Given the description of an element on the screen output the (x, y) to click on. 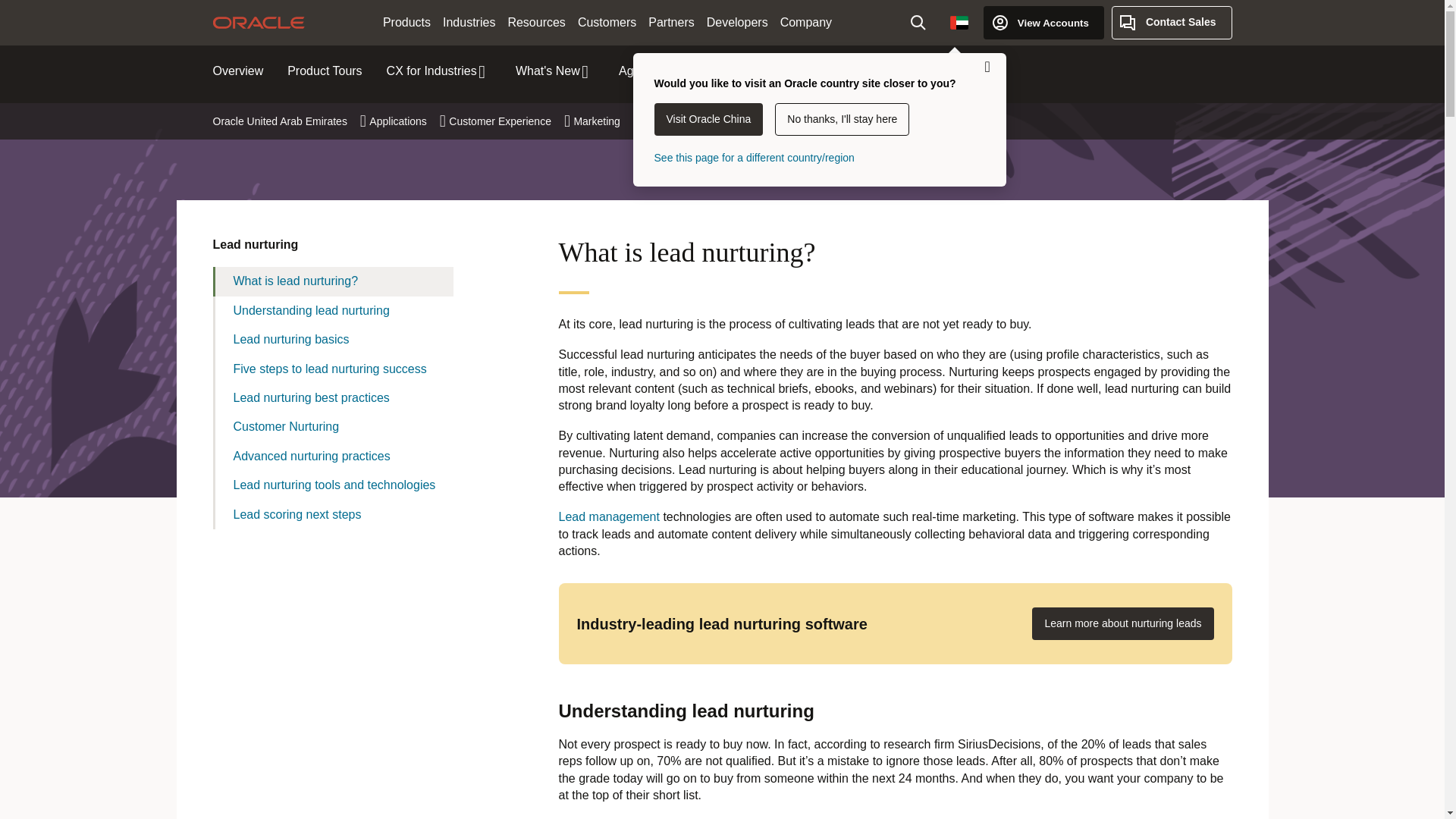
Visit Oracle China (707, 119)
Industries (468, 22)
Developers (737, 22)
Customers (607, 22)
Product Tours (323, 71)
Contact Sales (1171, 22)
No thanks, I'll stay here (841, 119)
View Accounts (1043, 22)
Resources (535, 22)
Partners (671, 22)
Company (806, 22)
Country (958, 22)
Products (406, 22)
Contact Sales (1171, 22)
Overview (237, 71)
